Given the description of an element on the screen output the (x, y) to click on. 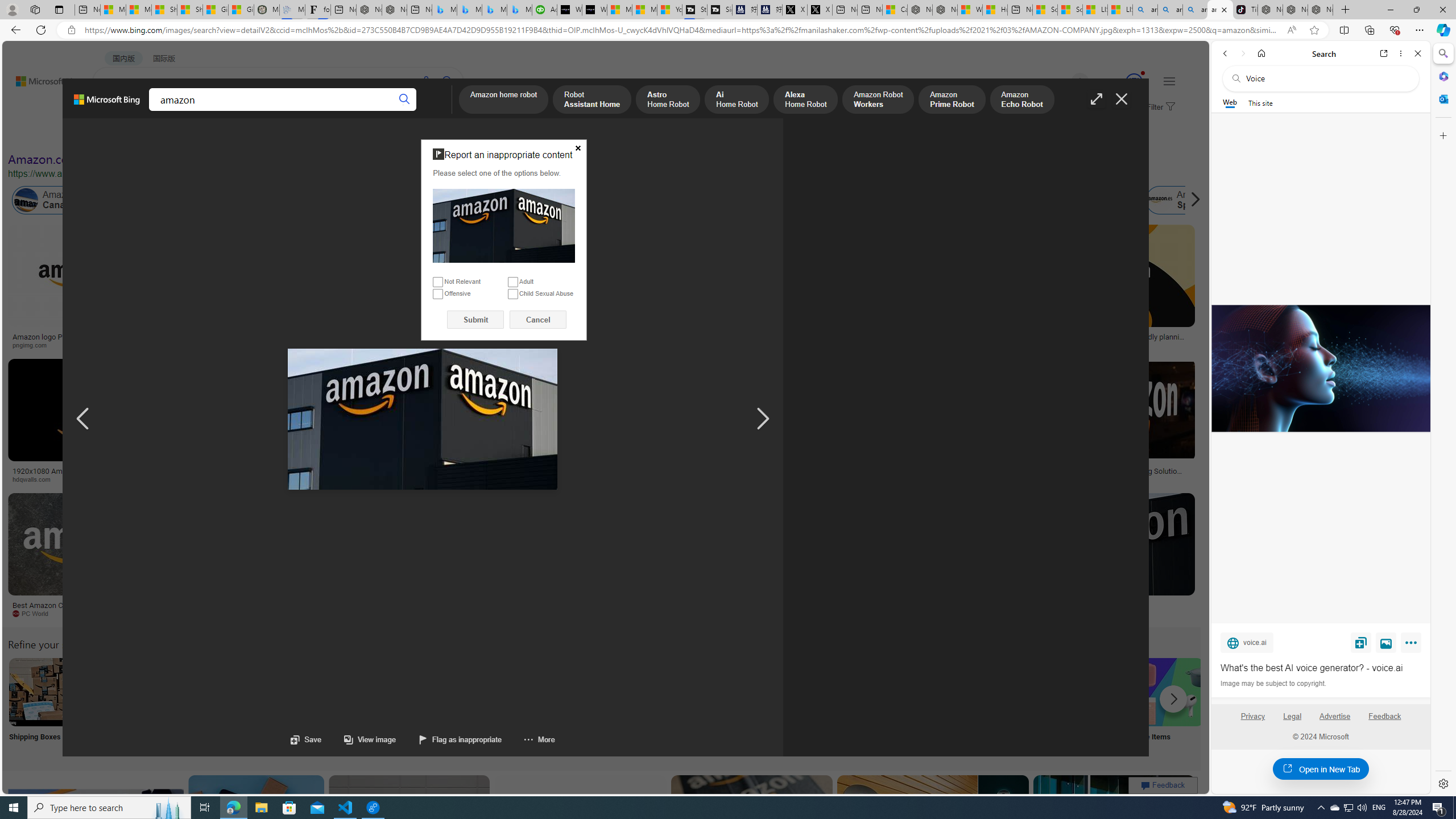
cordcuttersnews.com (916, 613)
logopng.com.br (764, 344)
amazon - Search Images (1219, 9)
Settings and quick links (1168, 80)
Scroll more suggestions right (1173, 698)
Amazon Sign in My Account (718, 691)
Amazon (1032, 605)
Layout (252, 135)
Amazon Online Shopping Homepage (868, 691)
Dallas Morning News (749, 479)
How Much Is Amazon's Net Worth? | GOBankingRates (275, 474)
